Given the description of an element on the screen output the (x, y) to click on. 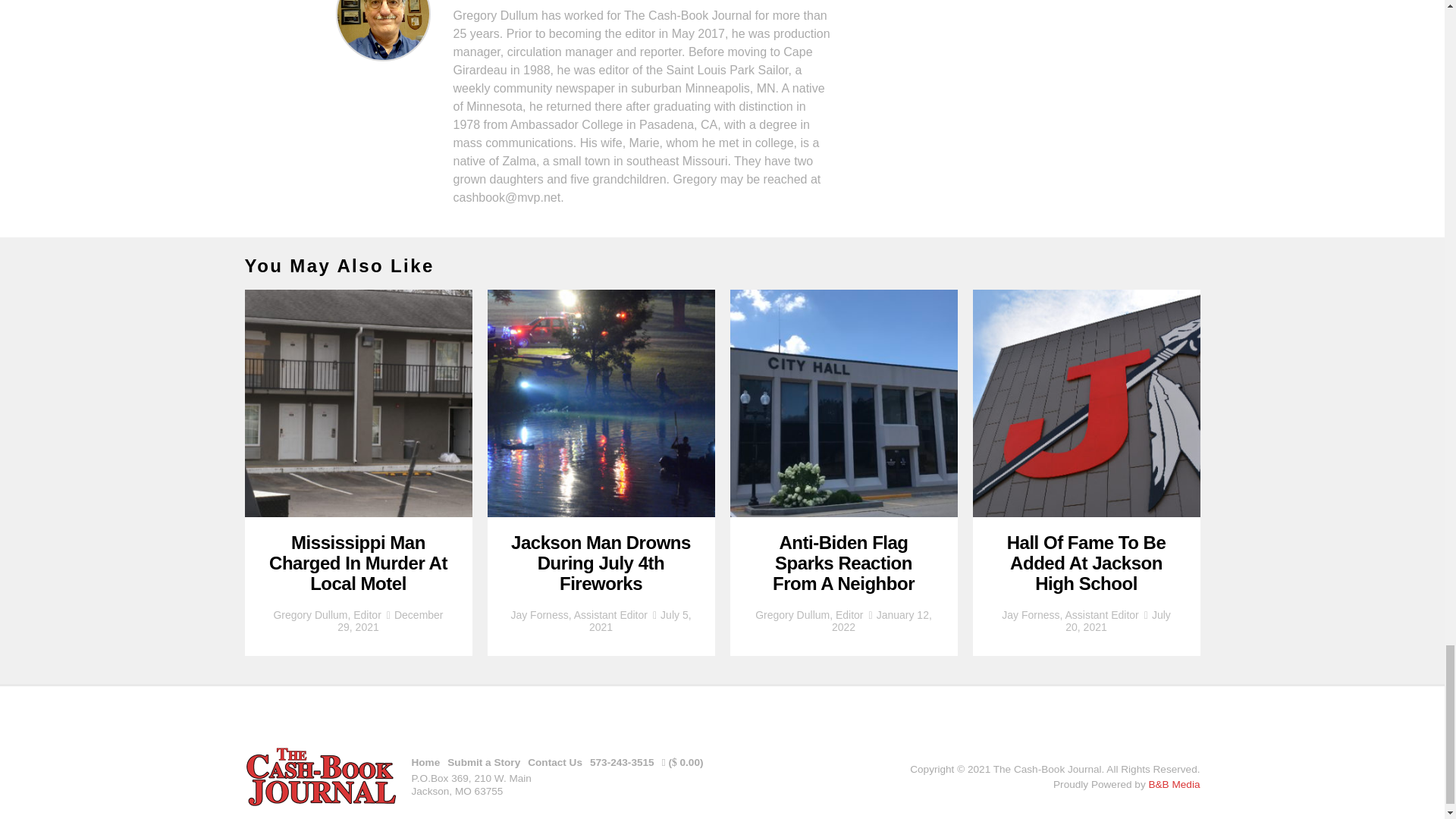
Posts by Gregory Dullum, Editor (809, 614)
Posts by Gregory Dullum, Editor (326, 614)
Posts by Jay Forness, Assistant Editor (579, 614)
